Given the description of an element on the screen output the (x, y) to click on. 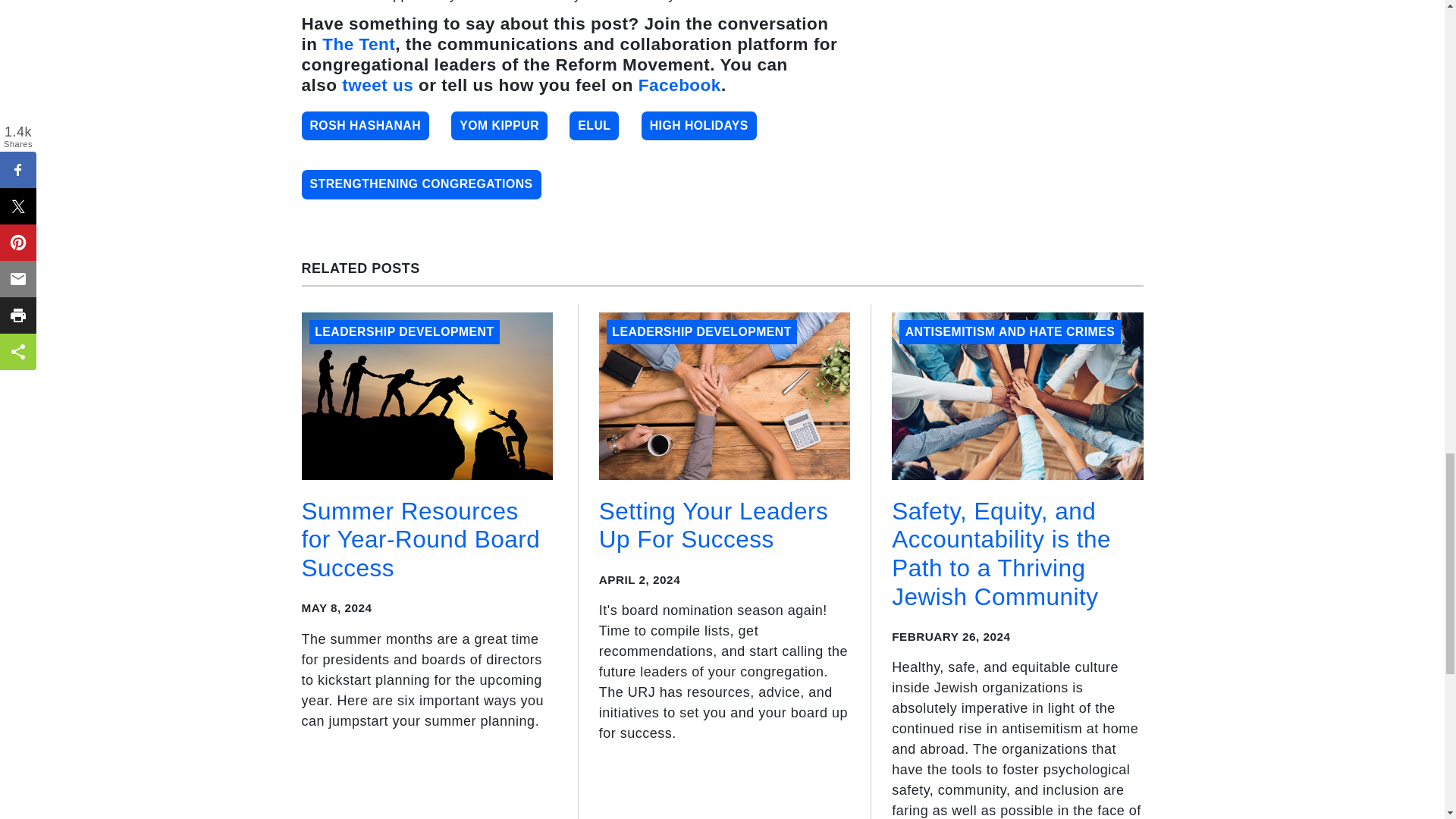
Monday, February 26, 2024 - 10:24am (950, 635)
Tuesday, April 2, 2024 - 05:22pm (638, 579)
Wednesday, May 8, 2024 - 05:02pm (336, 607)
